Given the description of an element on the screen output the (x, y) to click on. 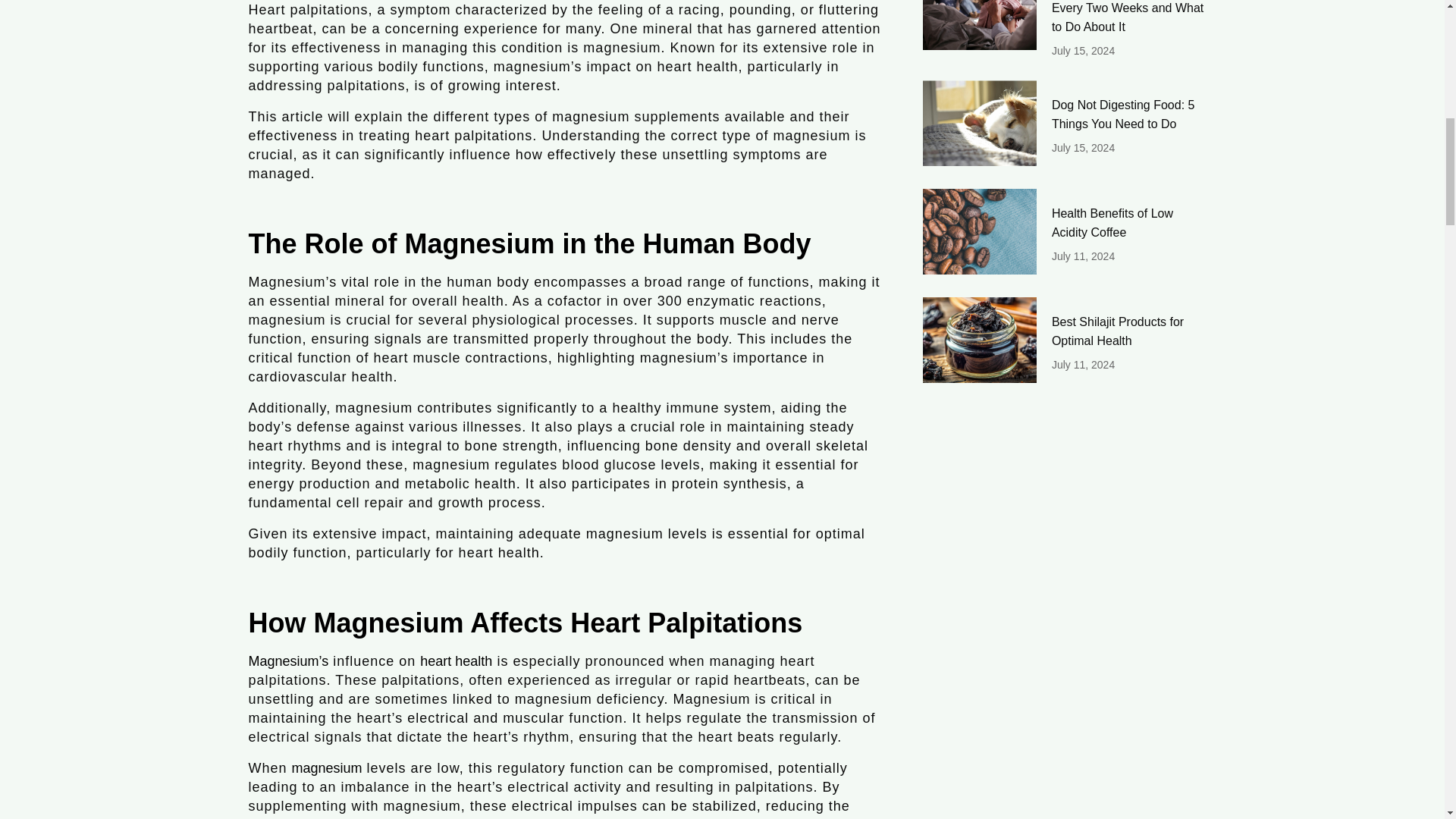
heart health (456, 661)
magnesium (327, 767)
